Given the description of an element on the screen output the (x, y) to click on. 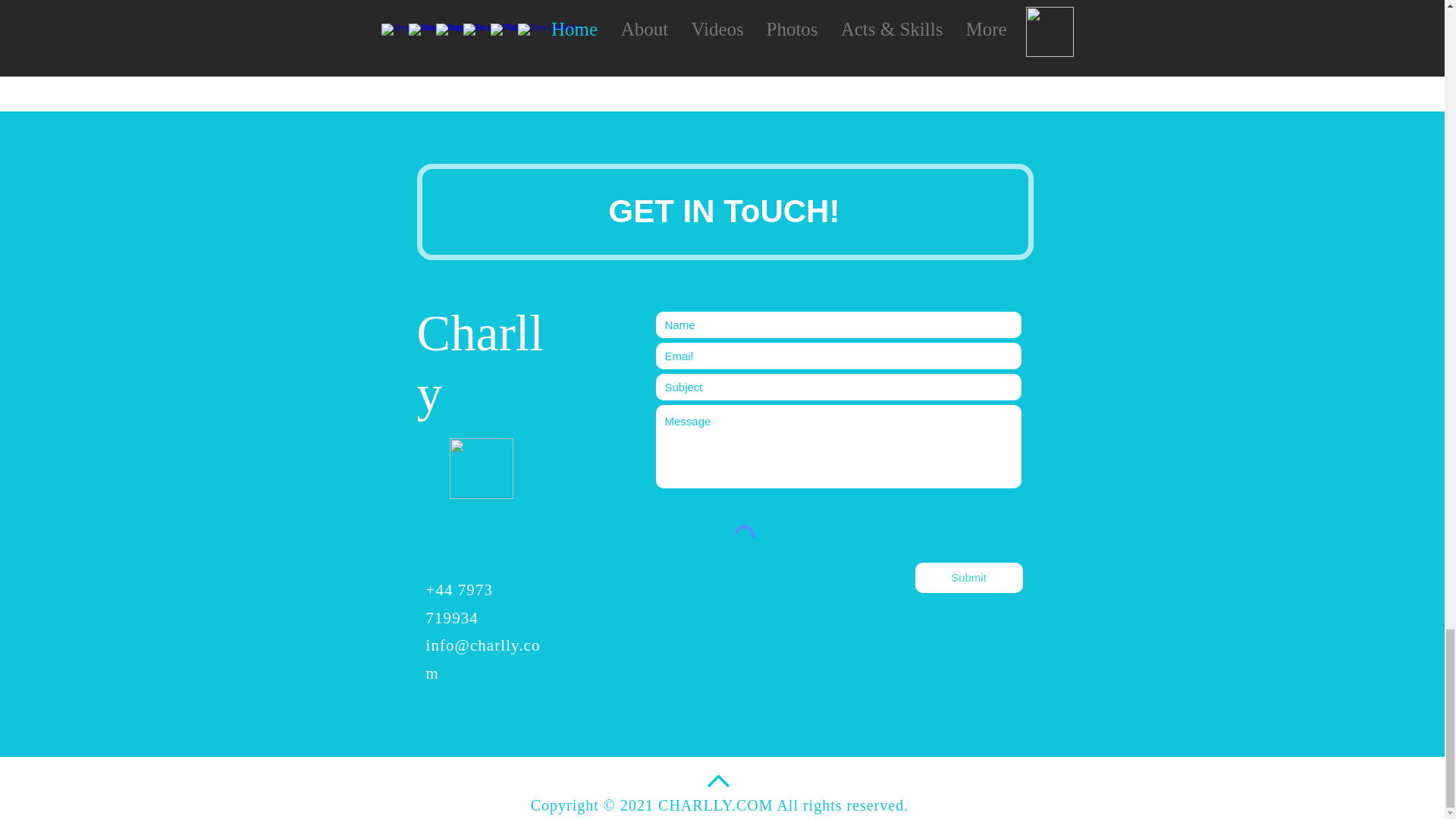
Charlly Icon W.png (480, 468)
Submit (968, 577)
